Given the description of an element on the screen output the (x, y) to click on. 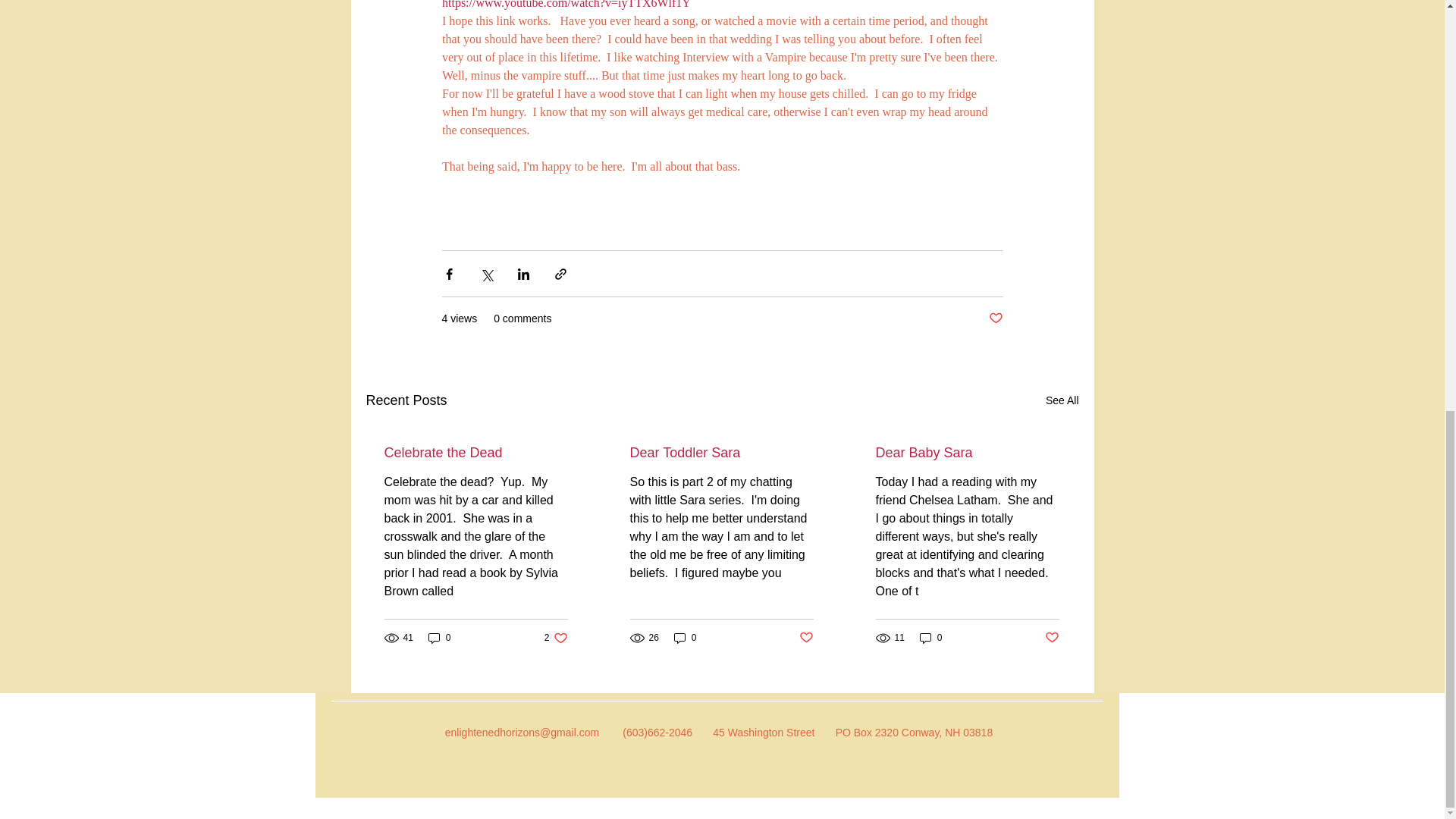
0 (439, 637)
Dear Baby Sara (966, 453)
See All (1061, 400)
Post not marked as liked (1052, 637)
Celebrate the Dead (475, 453)
0 (555, 637)
Post not marked as liked (685, 637)
Post not marked as liked (806, 637)
Dear Toddler Sara (995, 318)
